Given the description of an element on the screen output the (x, y) to click on. 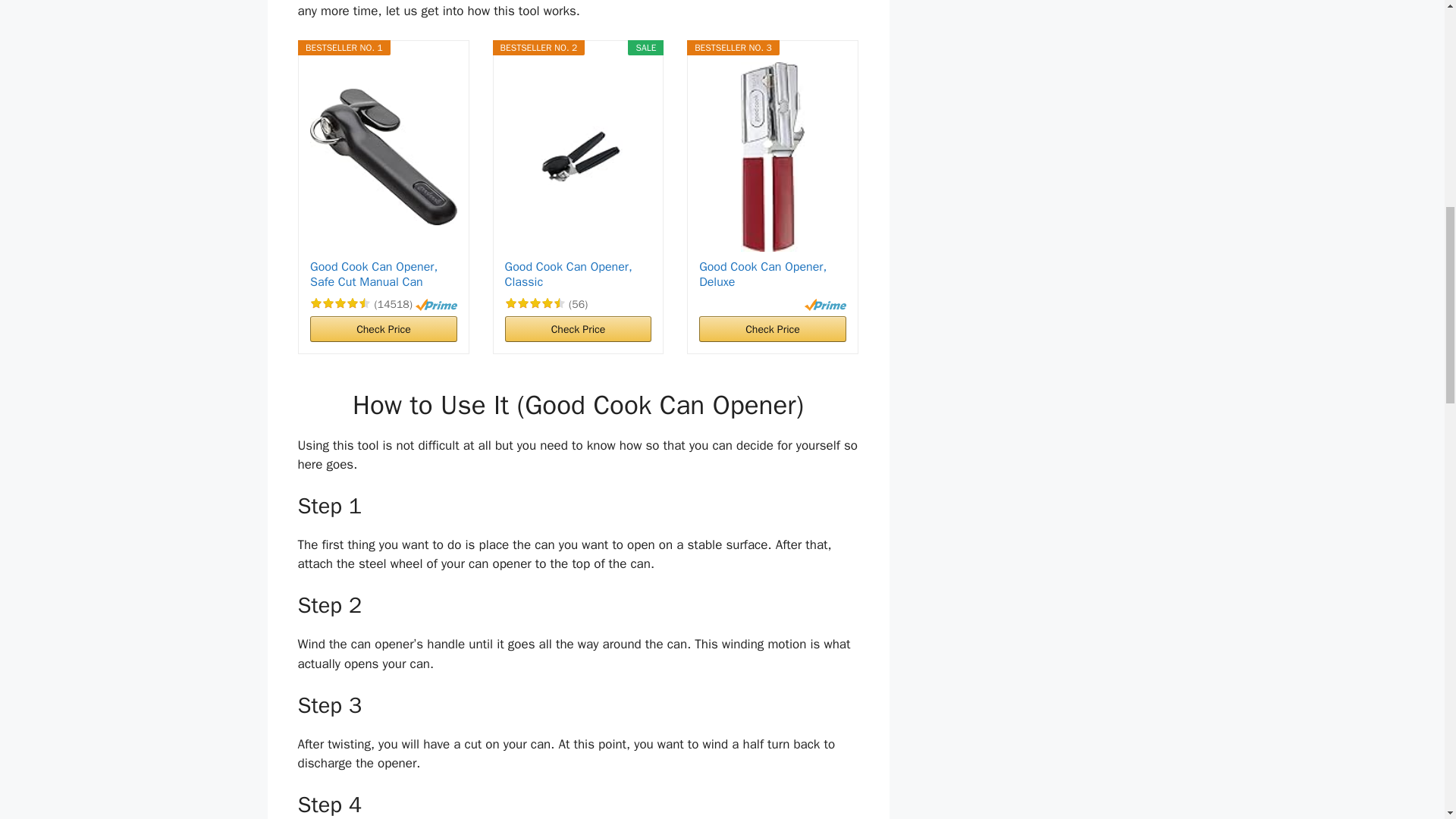
Good Cook Can Opener, Deluxe (771, 274)
Check Price (578, 329)
Good Cook Can Opener, Classic (578, 274)
Check Price (383, 329)
Check Price (578, 329)
Good Cook Can Opener, Safe Cut Manual Can Opener,... (383, 274)
Good Cook Can Opener, Safe Cut Manual Can Opener, no... (383, 274)
Check Price (383, 329)
Good Cook Can Opener, Deluxe (771, 274)
Check Price (771, 329)
